Given the description of an element on the screen output the (x, y) to click on. 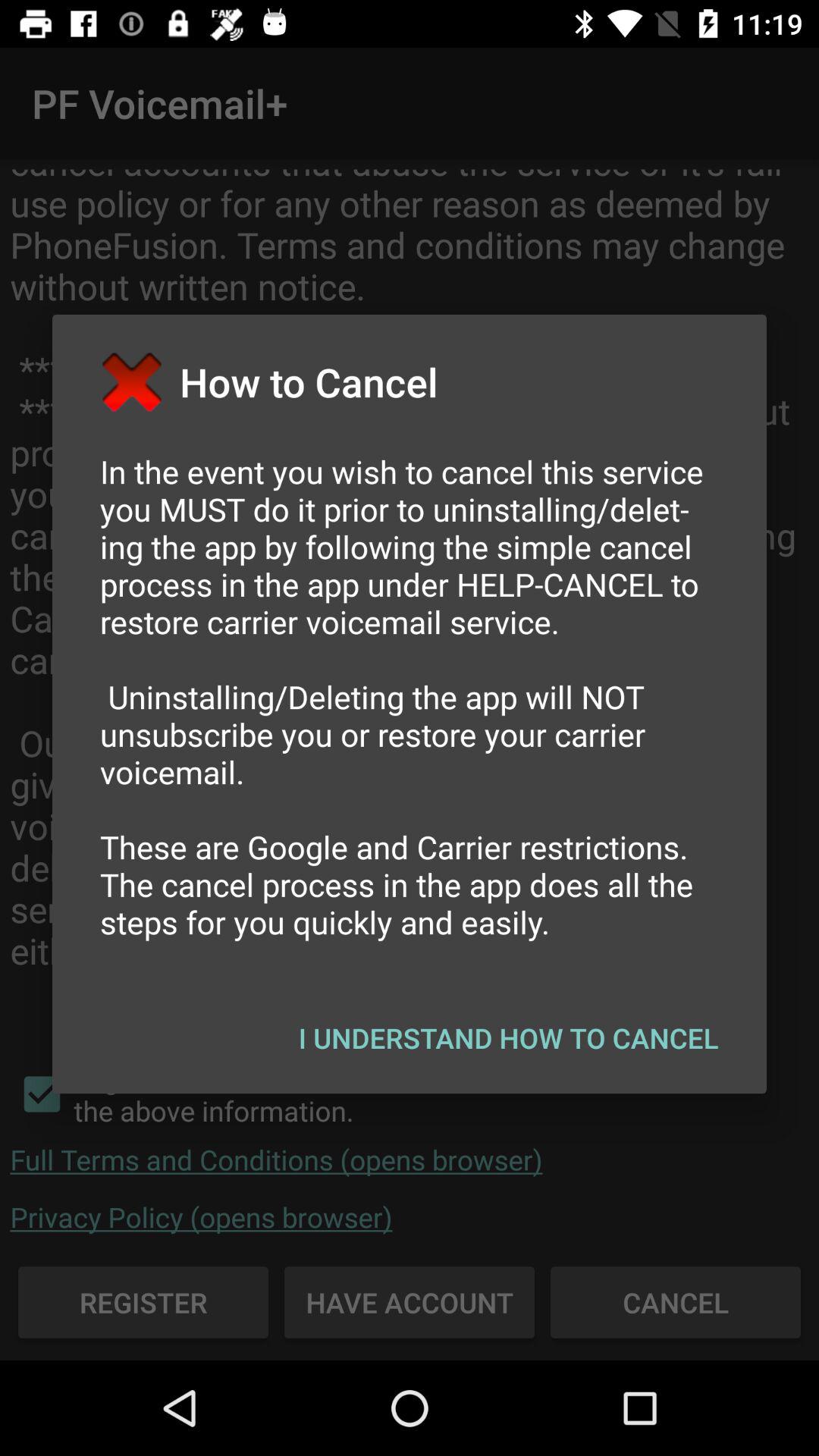
scroll to i understand how icon (508, 1037)
